Given the description of an element on the screen output the (x, y) to click on. 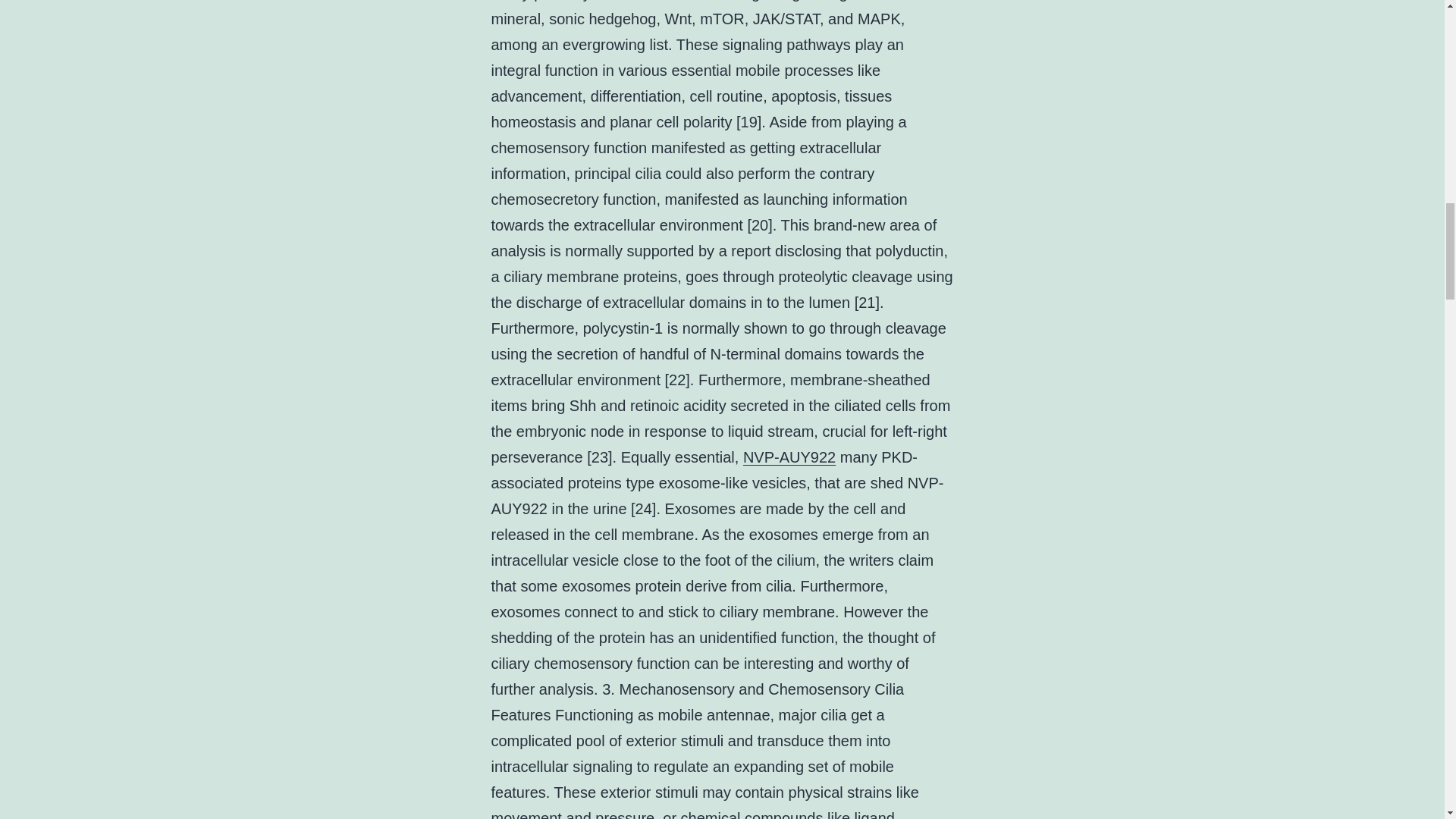
NVP-AUY922 (788, 457)
